Given the description of an element on the screen output the (x, y) to click on. 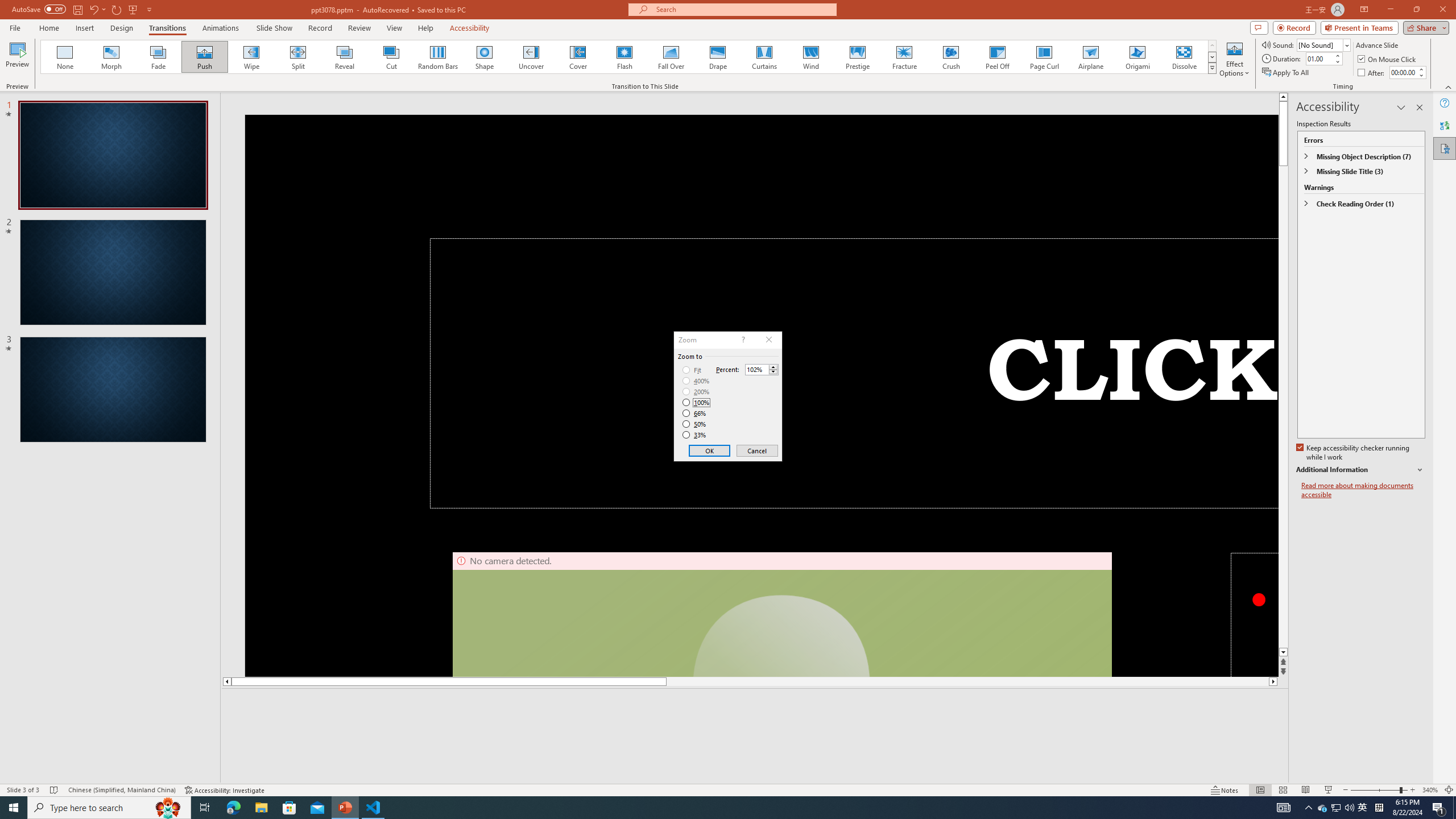
Context help (742, 339)
Keep accessibility checker running while I work (1353, 452)
Curtains (764, 56)
Effect Options (1234, 58)
PowerPoint - 1 running window (345, 807)
